Given the description of an element on the screen output the (x, y) to click on. 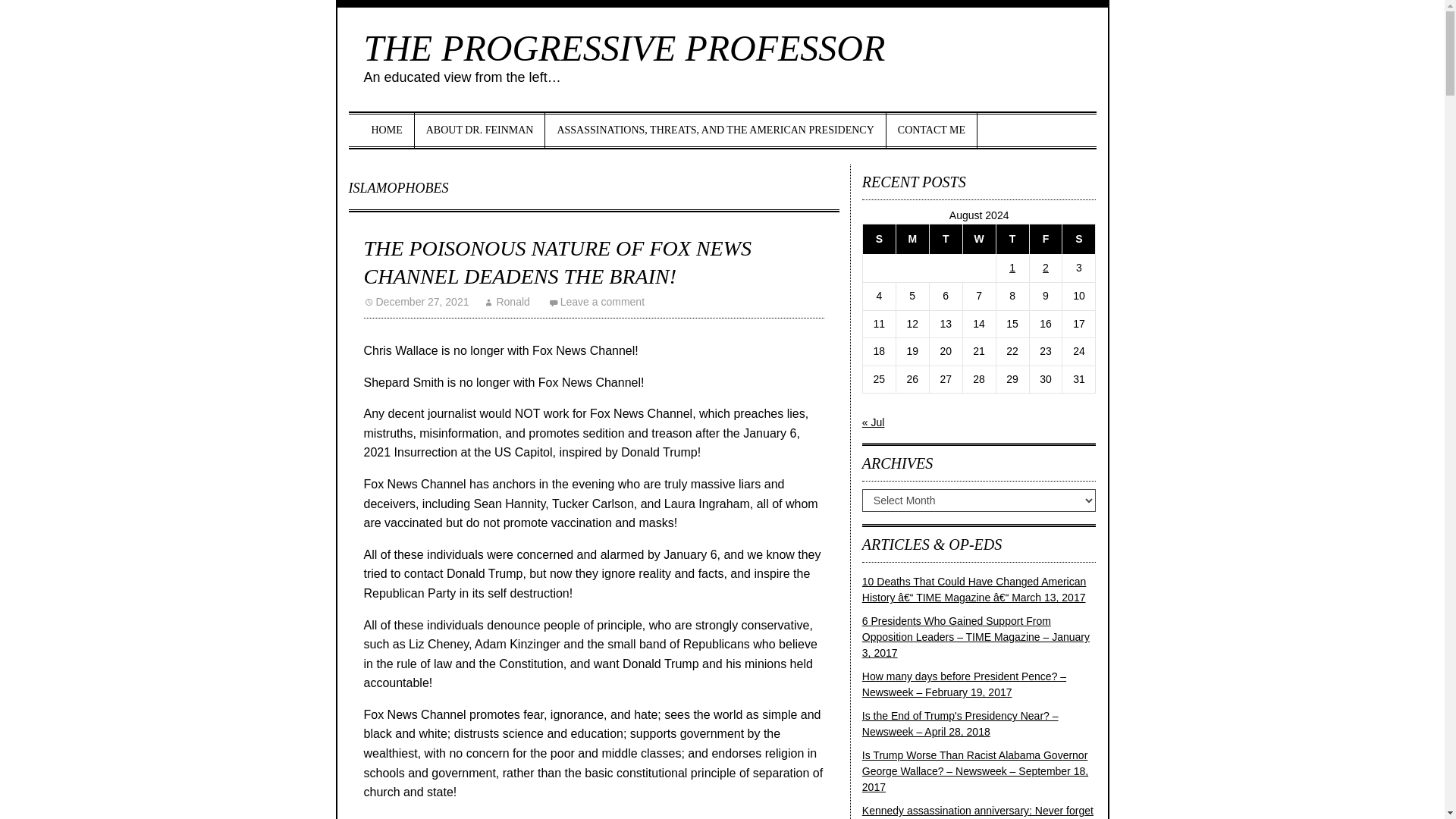
CONTACT ME (931, 130)
Assassinations, Threats, and the American Presidency (714, 130)
THE PROGRESSIVE PROFESSOR (624, 47)
Leave a comment (596, 301)
December 27, 2021 (416, 301)
Ronald (506, 301)
THE POISONOUS NATURE OF FOX NEWS CHANNEL DEADENS THE BRAIN! (557, 261)
ASSASSINATIONS, THREATS, AND THE AMERICAN PRESIDENCY (714, 130)
The Progressive Professor (624, 47)
About Dr. Feinman (480, 130)
Home (386, 130)
ABOUT DR. FEINMAN (480, 130)
HOME (386, 130)
Contact Me (931, 130)
5:34 pm (416, 301)
